Given the description of an element on the screen output the (x, y) to click on. 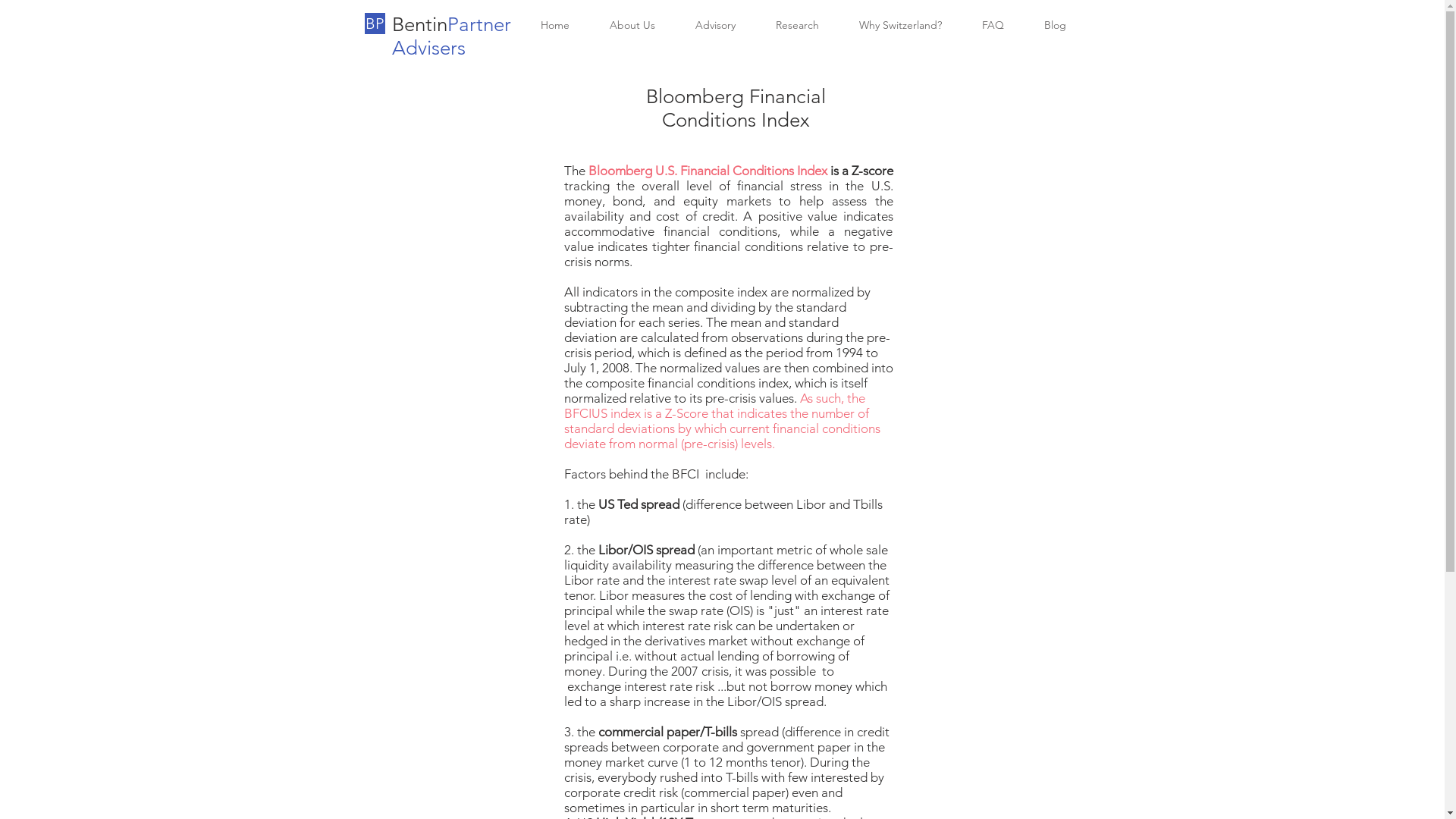
FAQ Element type: text (992, 25)
Blog Element type: text (1054, 25)
BentinPartner Advisers Element type: text (450, 35)
Why Switzerland? Element type: text (899, 25)
Home Element type: text (554, 25)
